Given the description of an element on the screen output the (x, y) to click on. 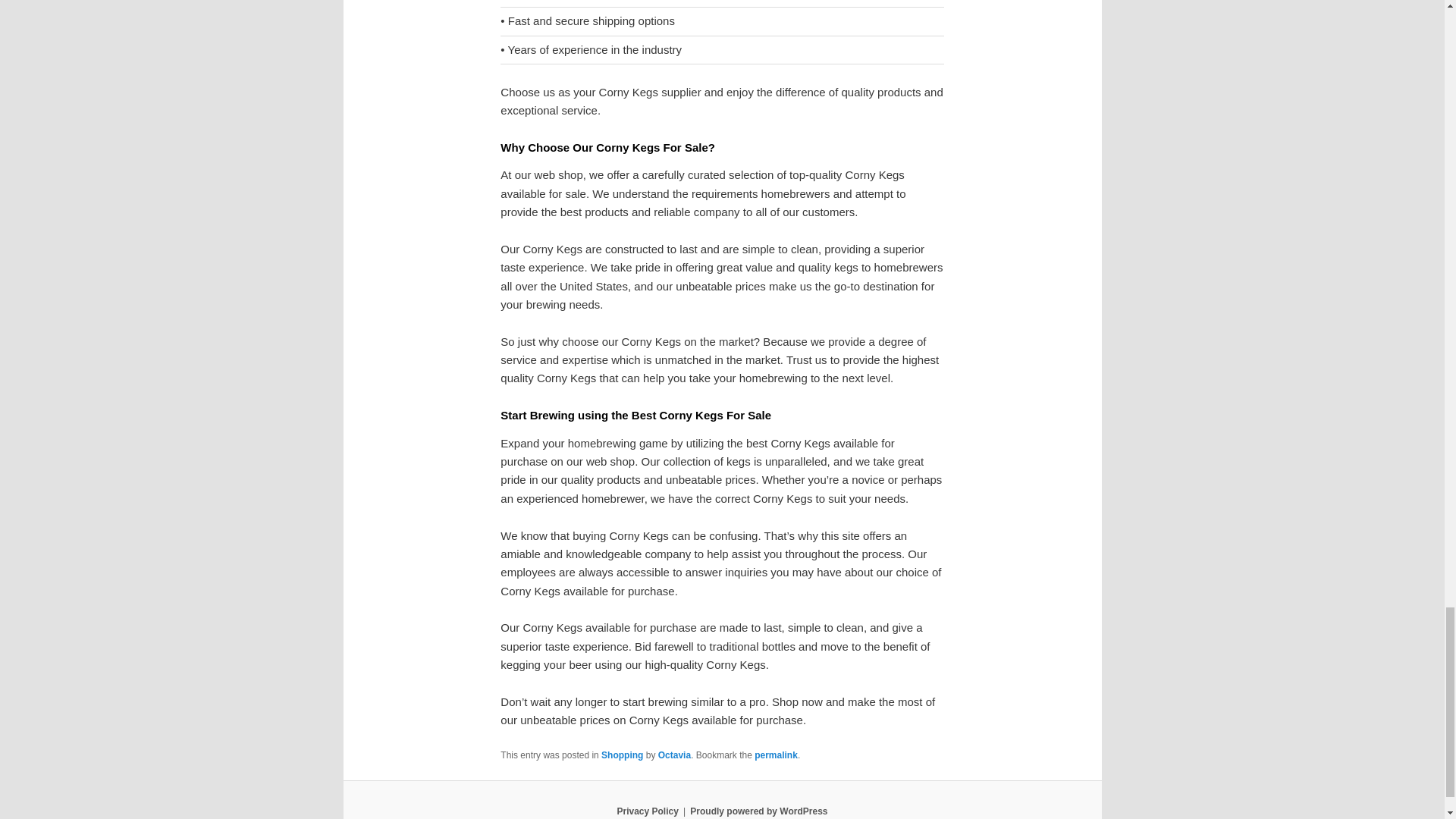
Octavia (674, 755)
Privacy Policy (646, 810)
Permalink to Soda Lovers Rejoice: Soda Kegs for Sale (775, 755)
Proudly powered by WordPress (758, 810)
Shopping (622, 755)
Semantic Personal Publishing Platform (758, 810)
permalink (775, 755)
